Given the description of an element on the screen output the (x, y) to click on. 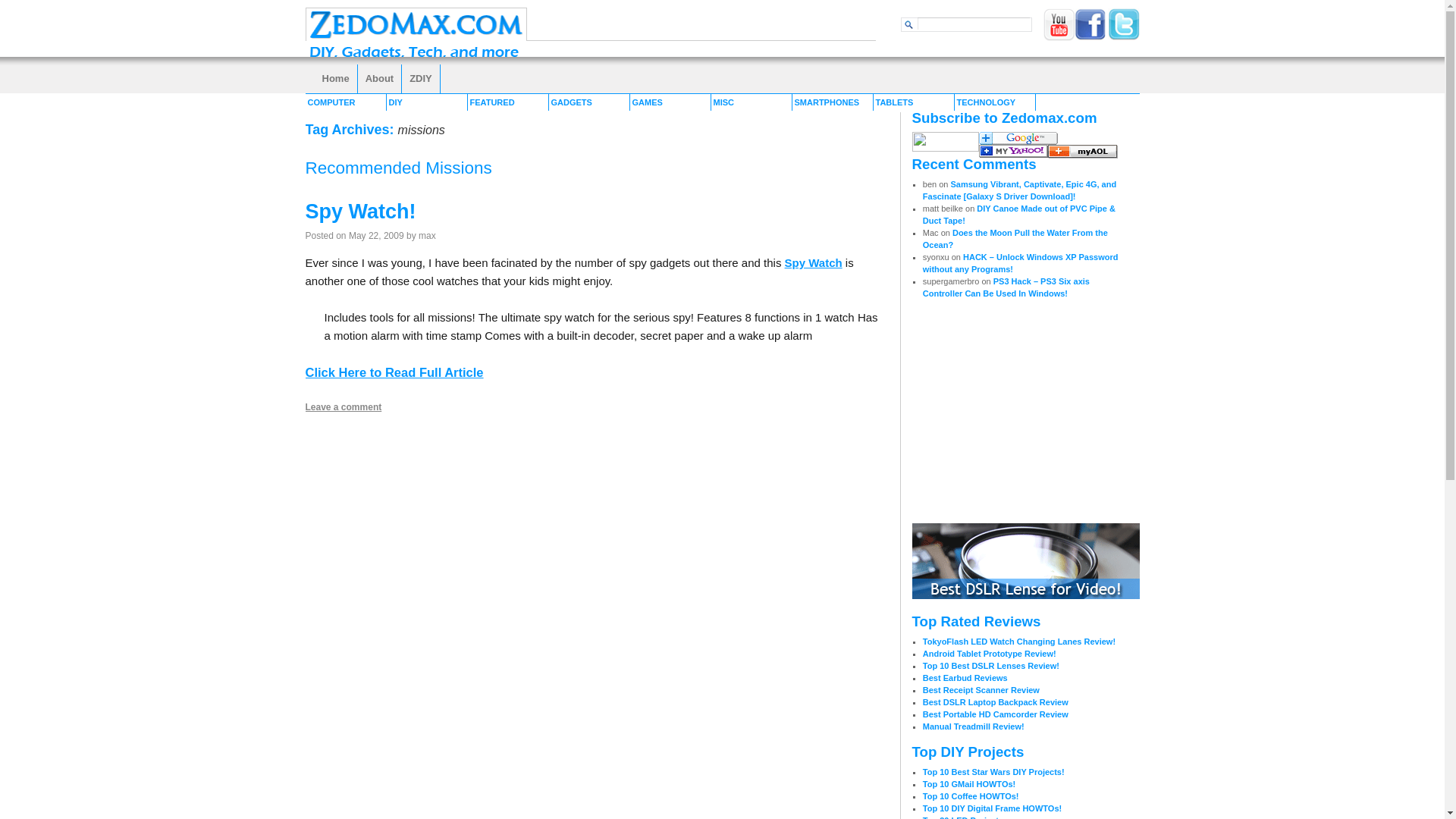
Best DSLR Lenses for Videography and Film! (1024, 595)
zedomax.com (1012, 151)
COMPUTER (344, 102)
Permanent Link to Spy Watch! (393, 372)
Permalink to Spy Watch! (359, 210)
DIY (427, 102)
Home (335, 78)
zedomax.com (414, 37)
ZDIY (421, 78)
About (380, 78)
